Given the description of an element on the screen output the (x, y) to click on. 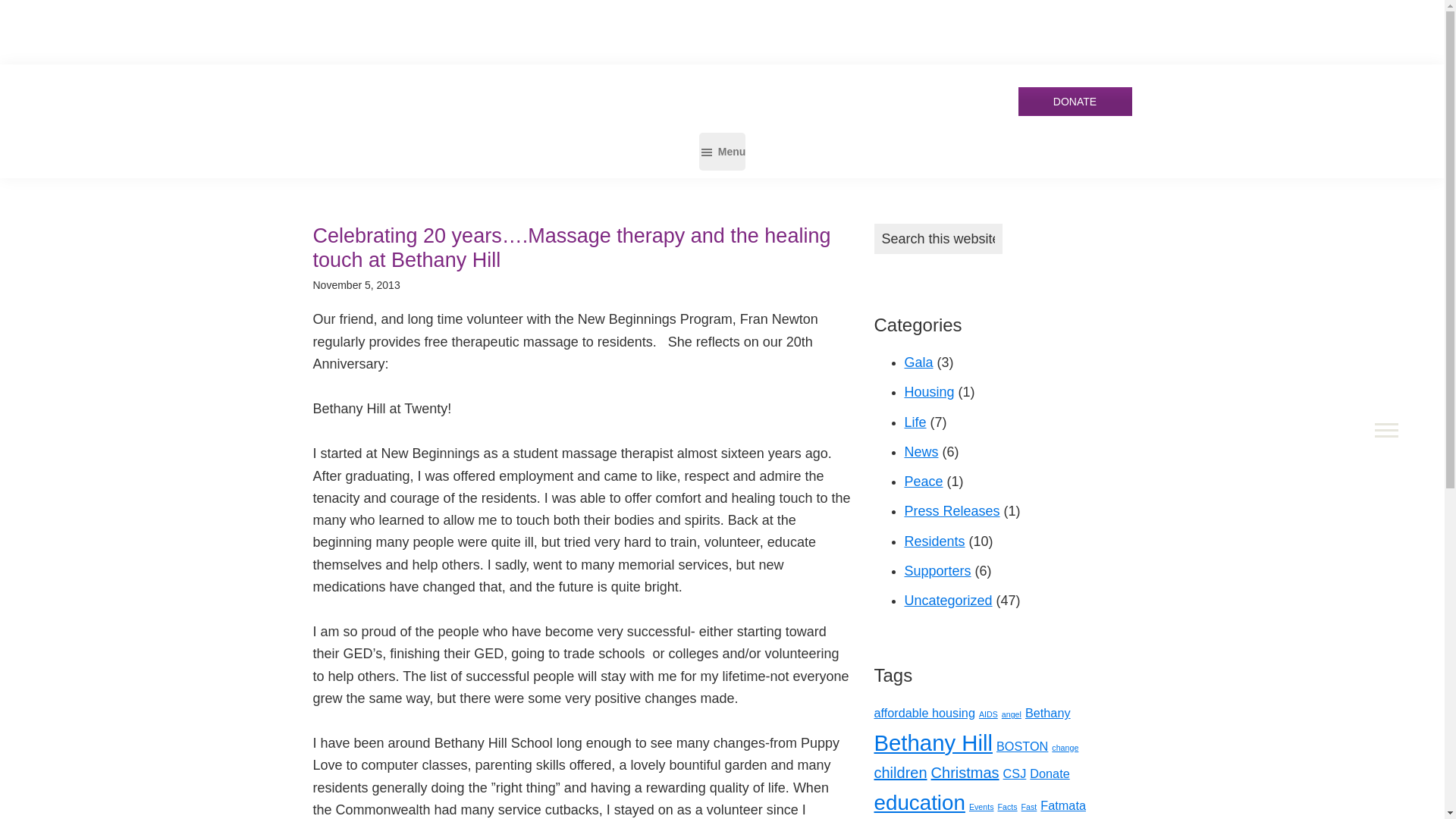
Search (33, 13)
DONATE (1074, 101)
Search (1008, 230)
Search (1008, 230)
Menu (721, 151)
Donate (1074, 101)
